Given the description of an element on the screen output the (x, y) to click on. 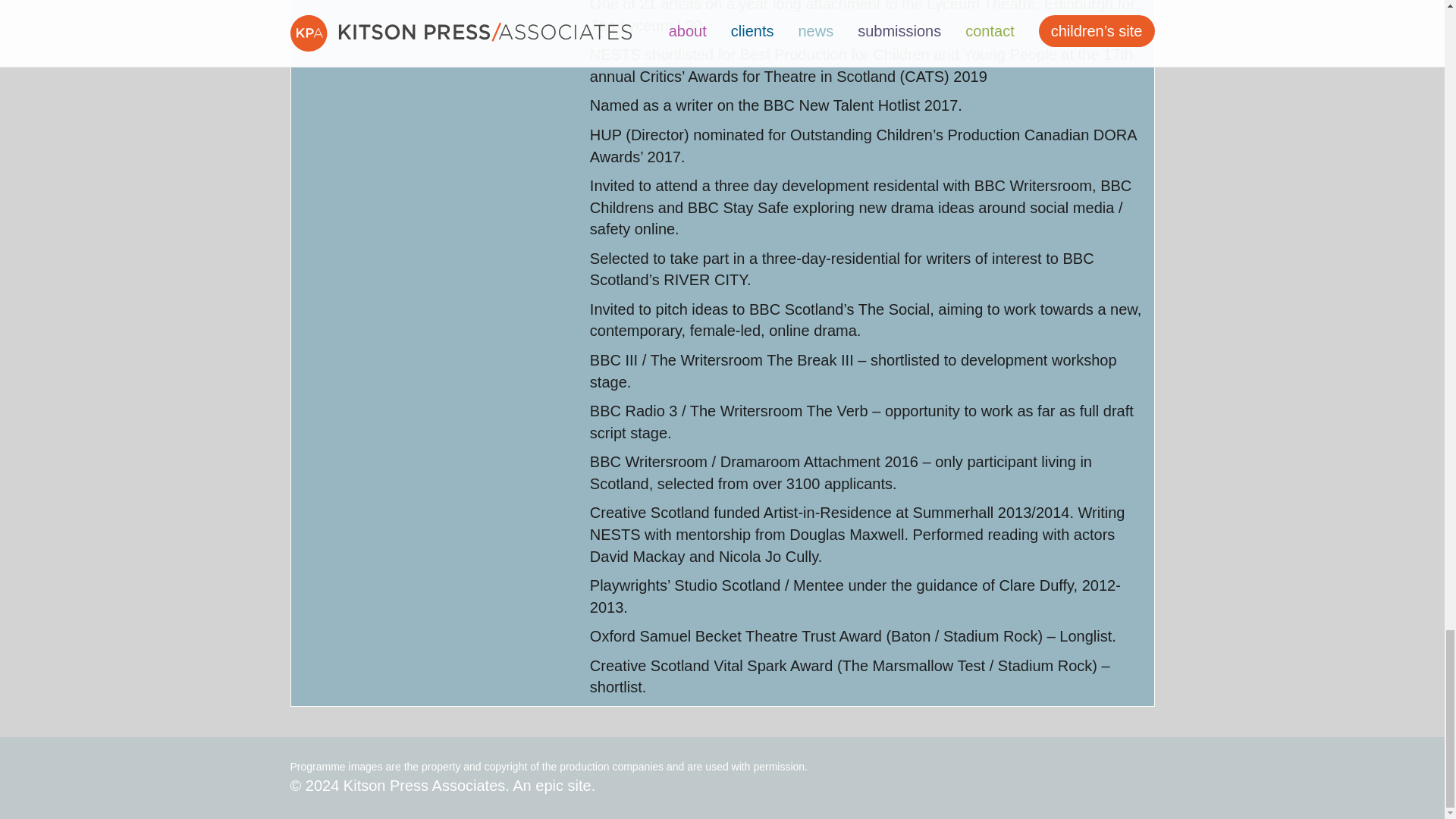
epic (549, 785)
